Given the description of an element on the screen output the (x, y) to click on. 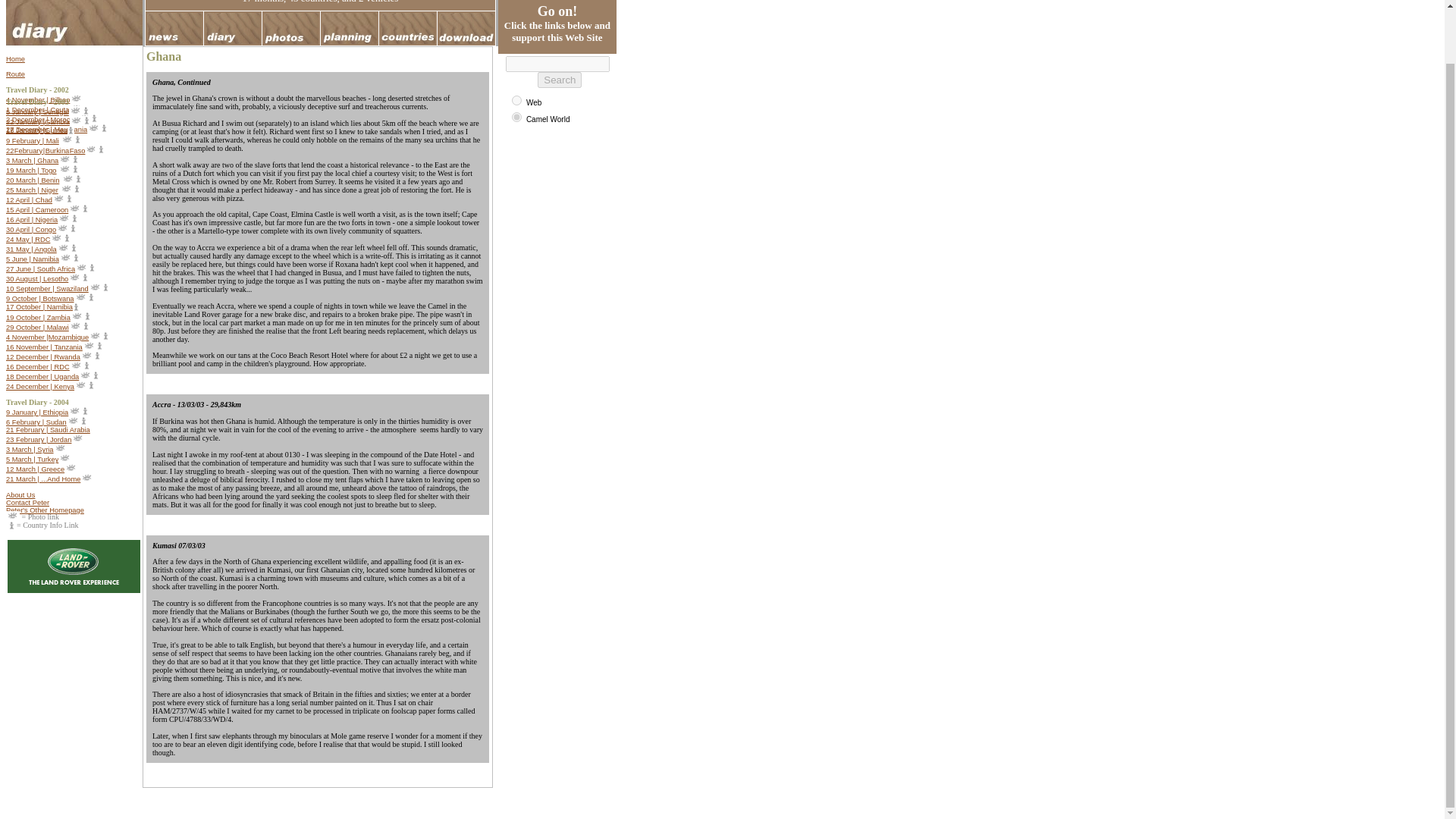
See the Photos (64, 160)
Home (14, 59)
See the Photos (75, 109)
See the Photos (83, 119)
See the Photos (75, 100)
See the Photos (75, 112)
Search (558, 79)
See the Photos (93, 129)
See the Photos (75, 121)
www.camelworld.com (516, 117)
Route (14, 73)
See the Photos (64, 170)
See the Photos (67, 140)
See the Photos (90, 150)
Search (558, 79)
